Given the description of an element on the screen output the (x, y) to click on. 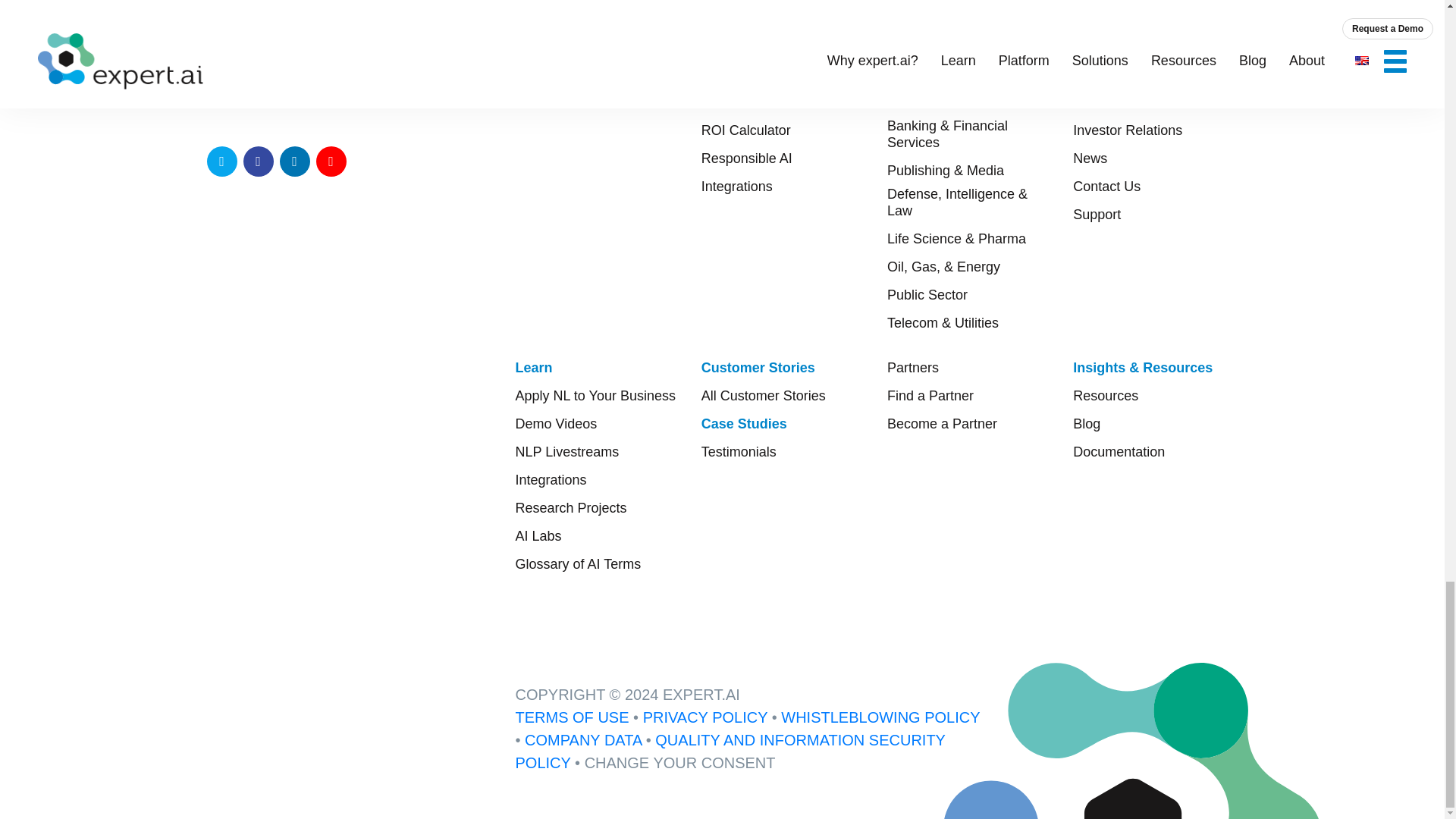
Support (1097, 214)
Research Projects (571, 507)
Resources (1105, 395)
Find a Partner (930, 395)
Integrations (550, 479)
Integrations (737, 186)
Blog (1086, 423)
Careers (1097, 74)
All Solutions (924, 74)
Glossary of AI Terms (578, 564)
